Given the description of an element on the screen output the (x, y) to click on. 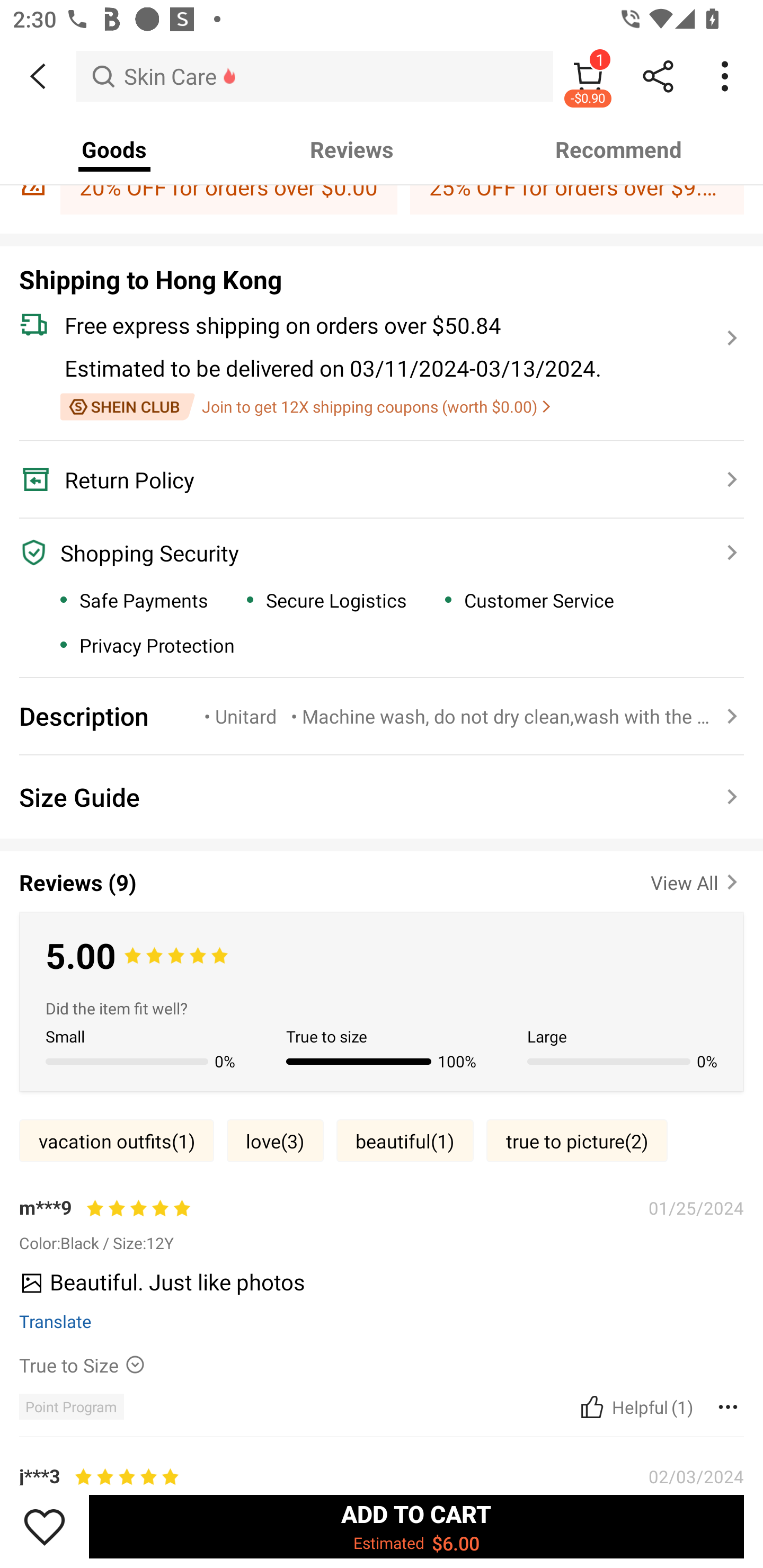
1 -$0.90 (588, 75)
Skin Care (314, 75)
Goods (114, 149)
Reviews (351, 149)
Recommend (618, 149)
Join to get 12X shipping coupons (worth $0.00) (305, 406)
Return Policy (370, 479)
Size Guide (381, 796)
vacation outfits(1) (116, 1140)
love(3) (274, 1140)
beautiful(1) (404, 1140)
true to picture(2) (576, 1140)
m***9 Rating5.0 01/25/2024 Color:Black / Size:12Y (381, 1223)
  Beautiful. Just like photos (374, 1287)
Translate (55, 1320)
Cancel Helpful Was this article helpful? (1) (634, 1406)
Point Program (71, 1406)
j***3 Rating5.0 02/03/2024 (381, 1467)
ADD TO CART Estimated   $6.00 (416, 1526)
Save (44, 1526)
